Given the description of an element on the screen output the (x, y) to click on. 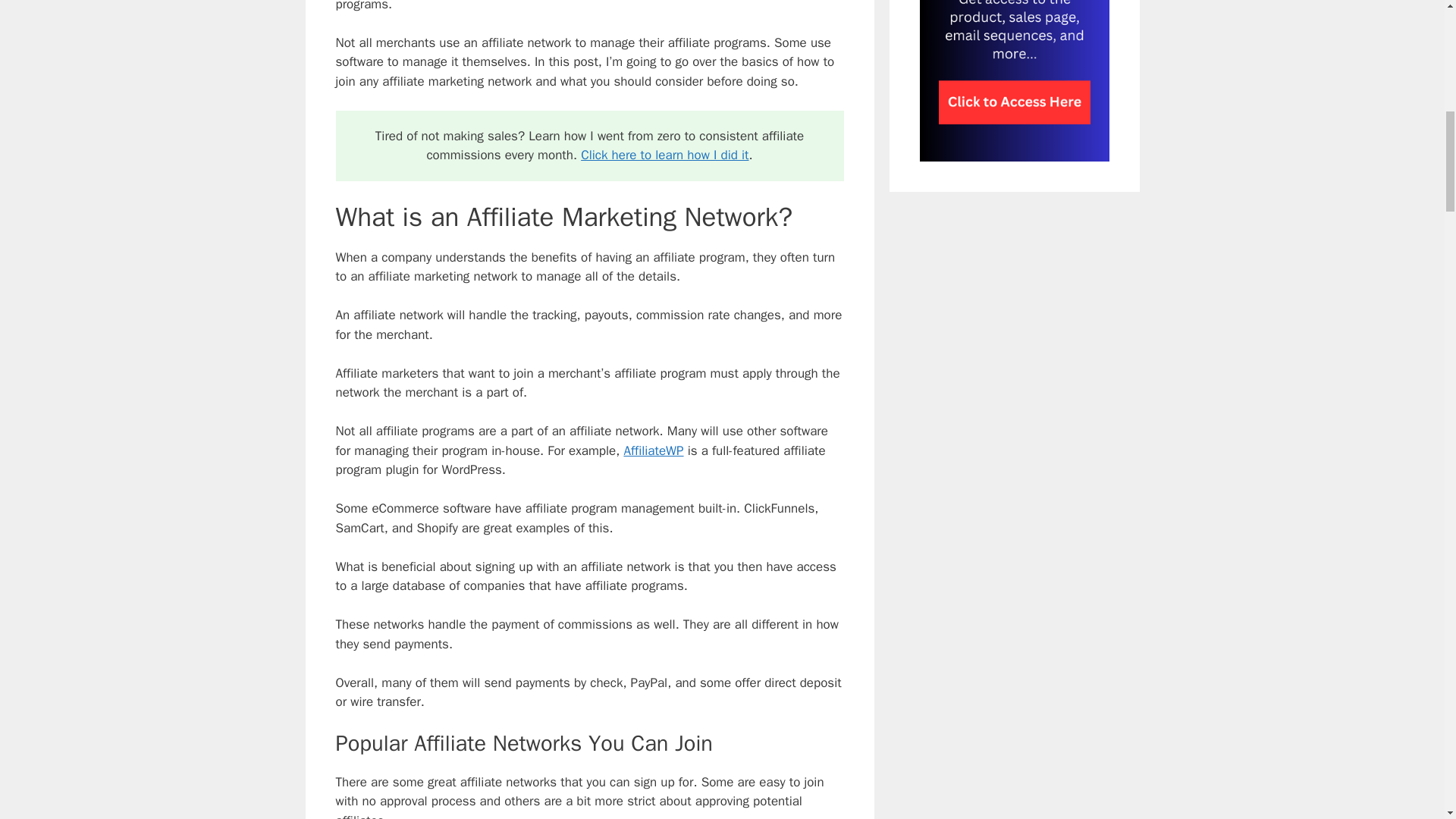
Scroll back to top (1406, 720)
Click here to learn how I did it (664, 154)
AffiliateWP (652, 450)
